Given the description of an element on the screen output the (x, y) to click on. 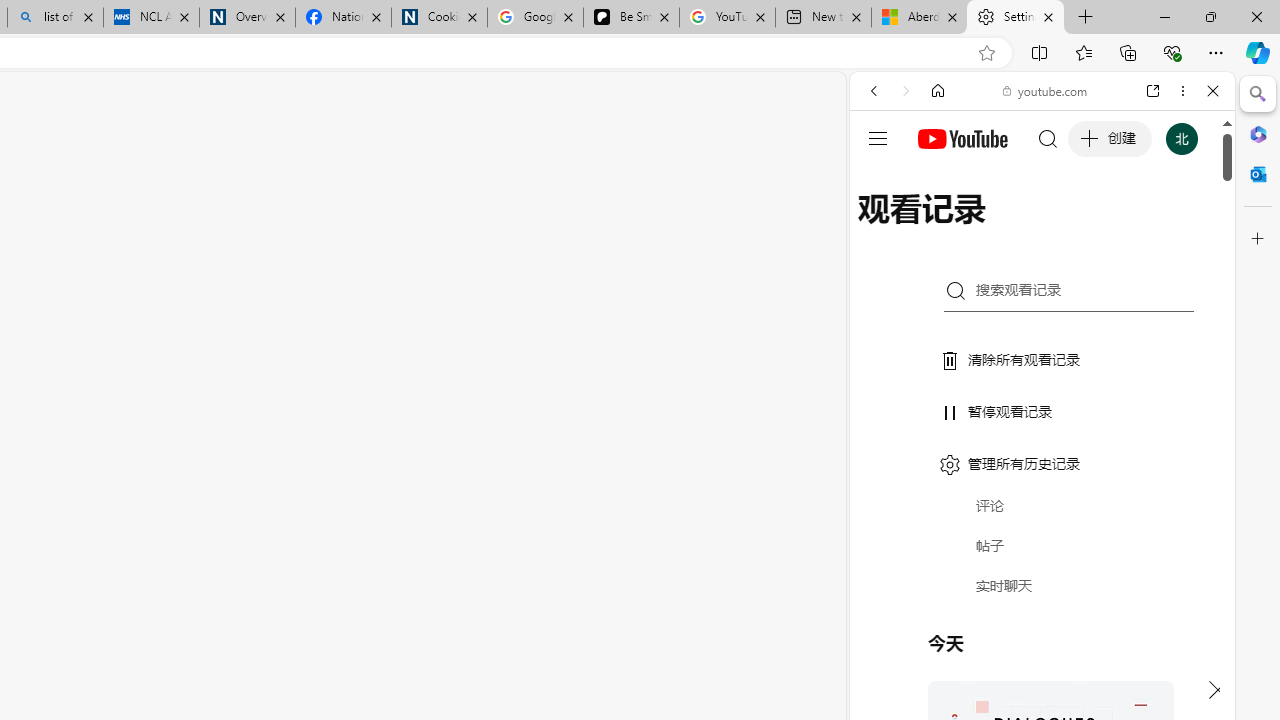
Search Filter, Search Tools (1093, 228)
Show More Music (1164, 546)
Open link in new tab (1153, 91)
Trailer #2 [HD] (1042, 594)
#you (1042, 445)
youtube.com (1046, 90)
Class: b_serphb (1190, 229)
Close Customize pane (1258, 239)
